Given the description of an element on the screen output the (x, y) to click on. 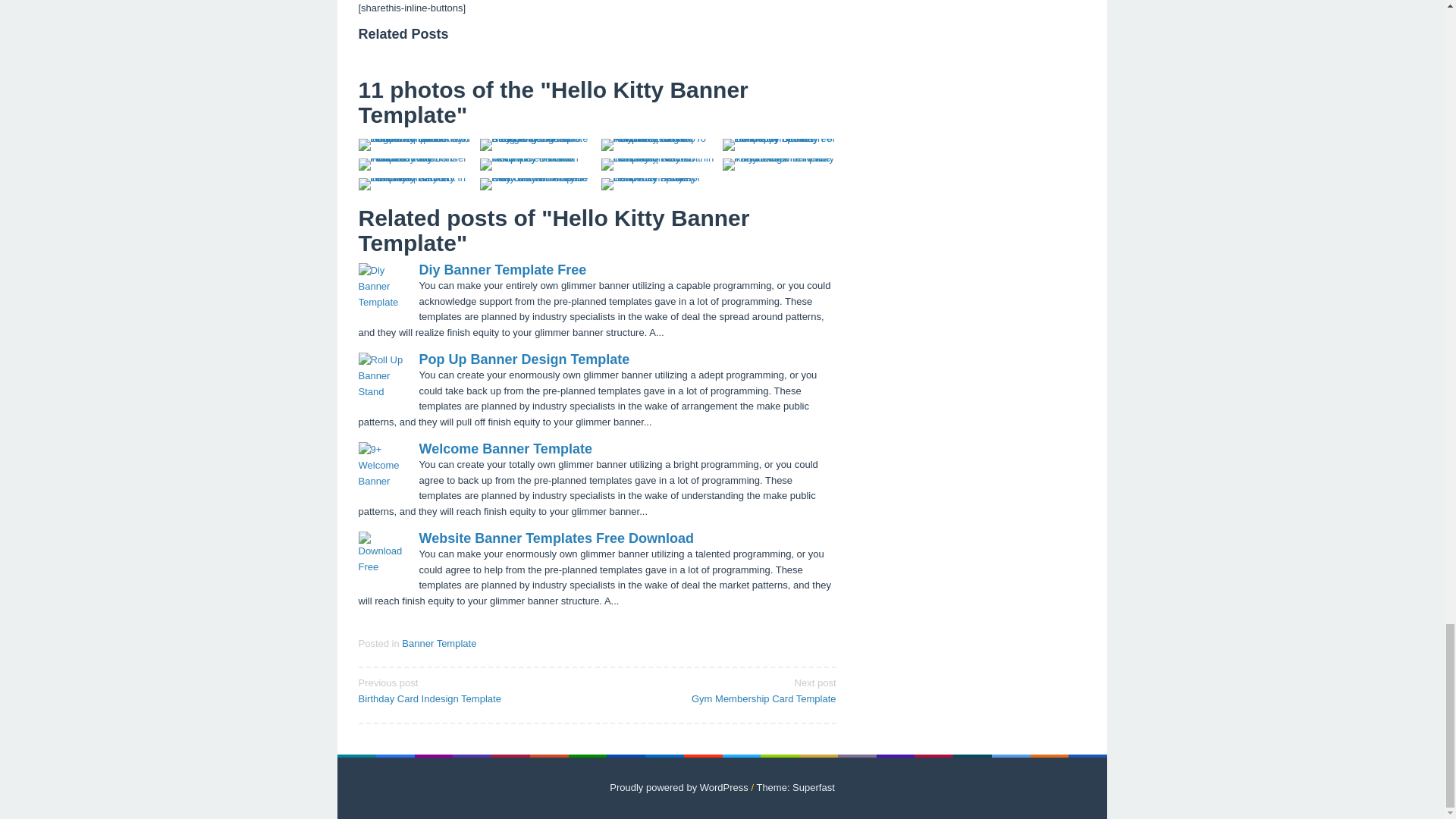
Banner Template (721, 689)
Website Banner Templates Free Download (438, 643)
Diy Banner Template Free (556, 538)
Welcome Banner Template (502, 269)
Pop Up Banner Design Template (472, 689)
